Given the description of an element on the screen output the (x, y) to click on. 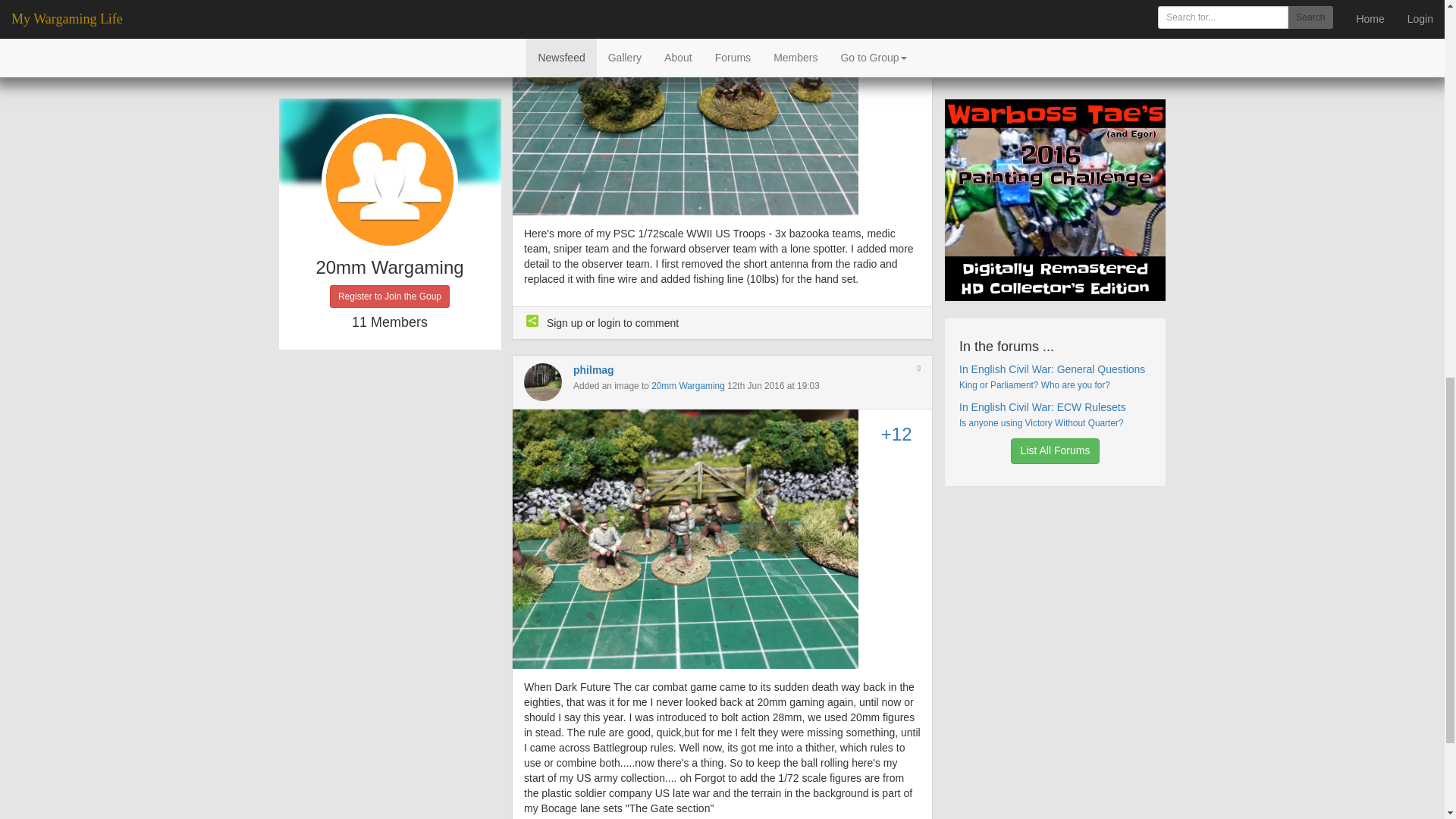
20mm Wargaming (687, 385)
philmag (593, 369)
